Given the description of an element on the screen output the (x, y) to click on. 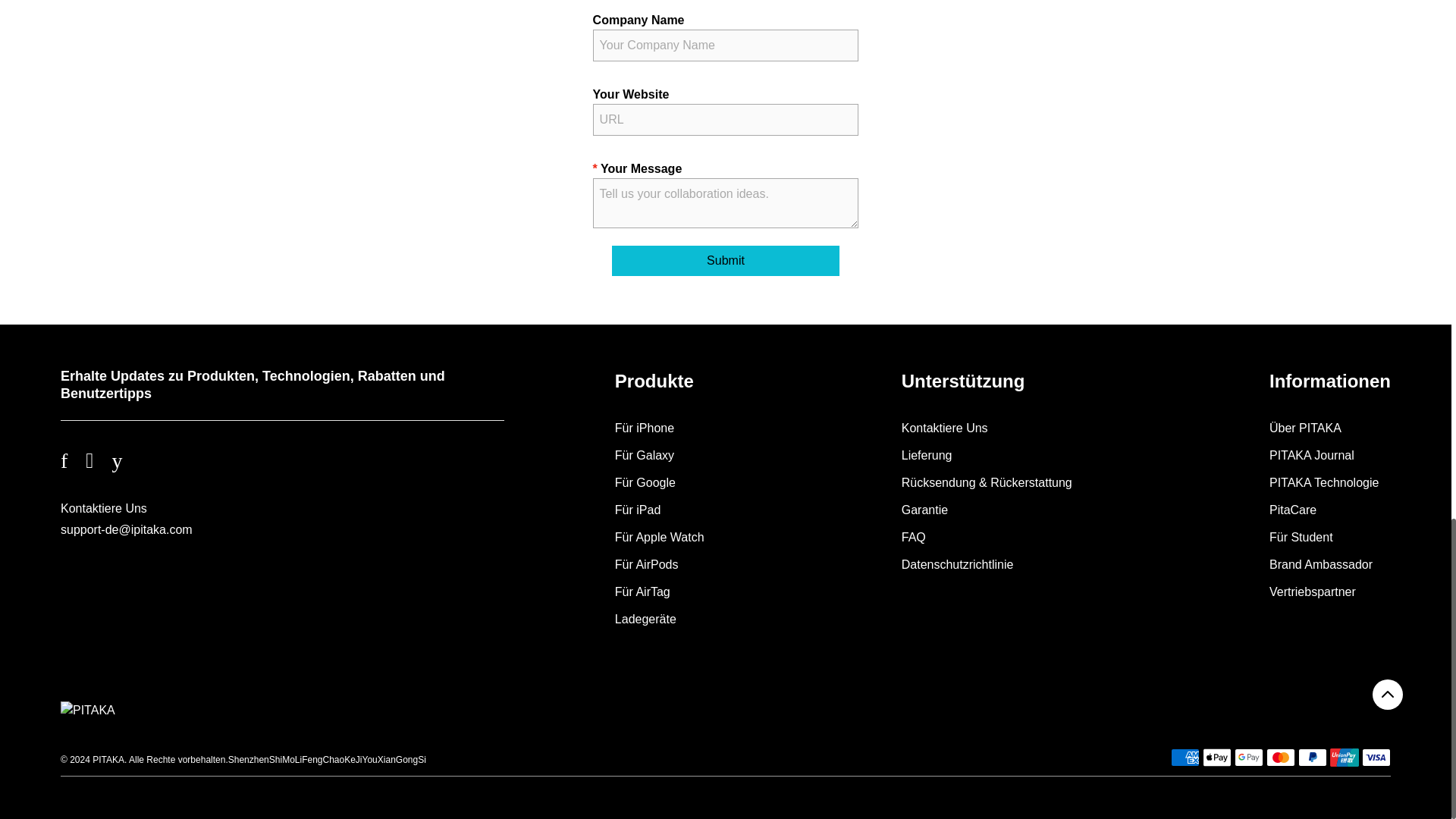
PITAKA Germany auf YouTube (126, 460)
PITAKA Germany auf Facebook (73, 460)
PITAKA Germany auf Instagram (98, 460)
